Given the description of an element on the screen output the (x, y) to click on. 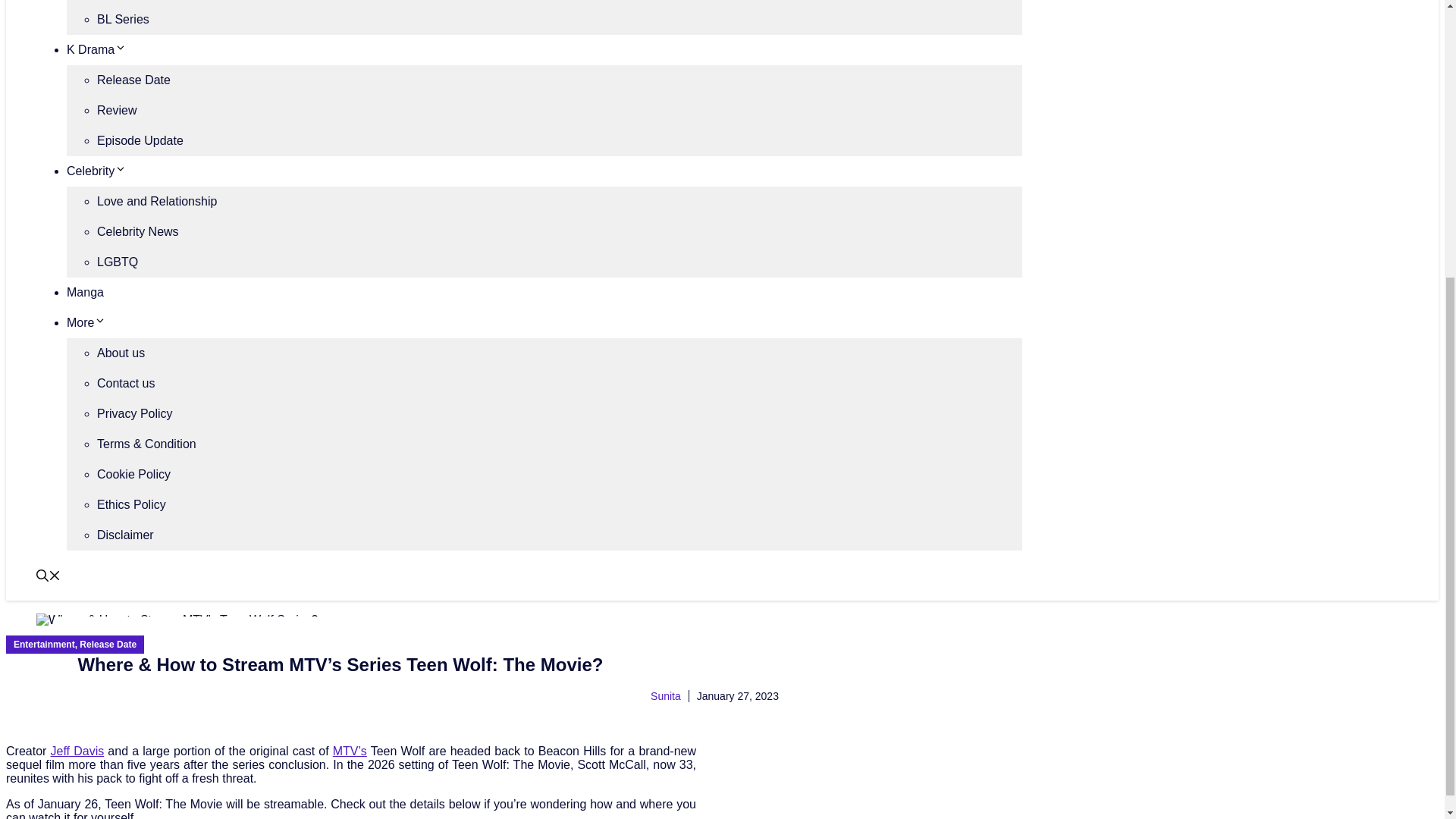
Entertainment (44, 644)
Cookie Policy (133, 473)
Sunita (665, 695)
Celebrity (96, 170)
Privacy Policy (135, 413)
K Drama (96, 49)
Contact us (125, 382)
Review (116, 110)
Celebrity News (138, 231)
Jeff Davis (77, 750)
Ethics Policy (131, 504)
BL Series (123, 19)
More (86, 322)
Love and Relationship (156, 201)
Disclaimer (125, 534)
